Given the description of an element on the screen output the (x, y) to click on. 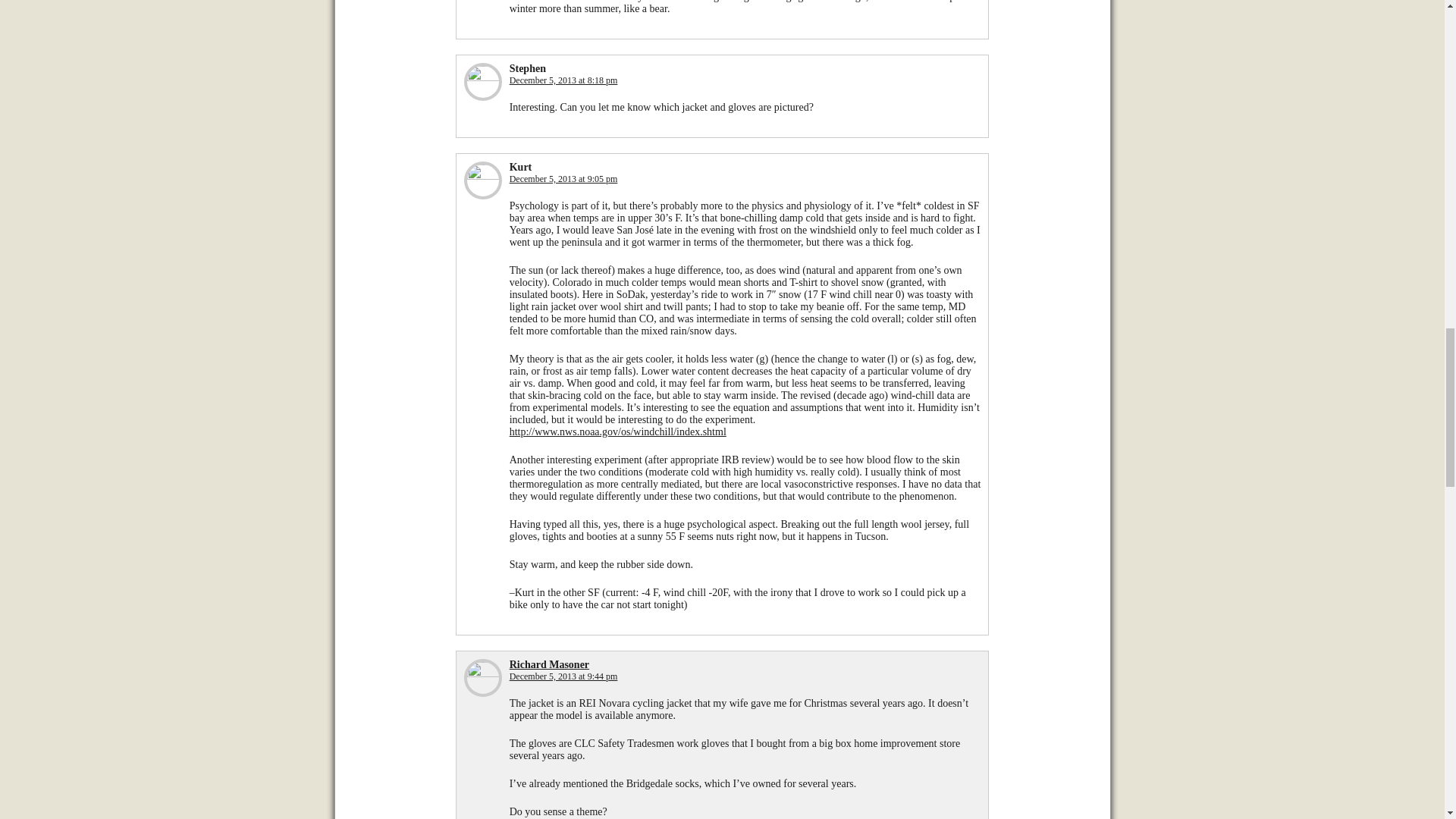
Richard Masoner (549, 664)
December 5, 2013 at 8:18 pm (563, 80)
December 5, 2013 at 9:05 pm (563, 178)
December 5, 2013 at 9:44 pm (563, 675)
